Given the description of an element on the screen output the (x, y) to click on. 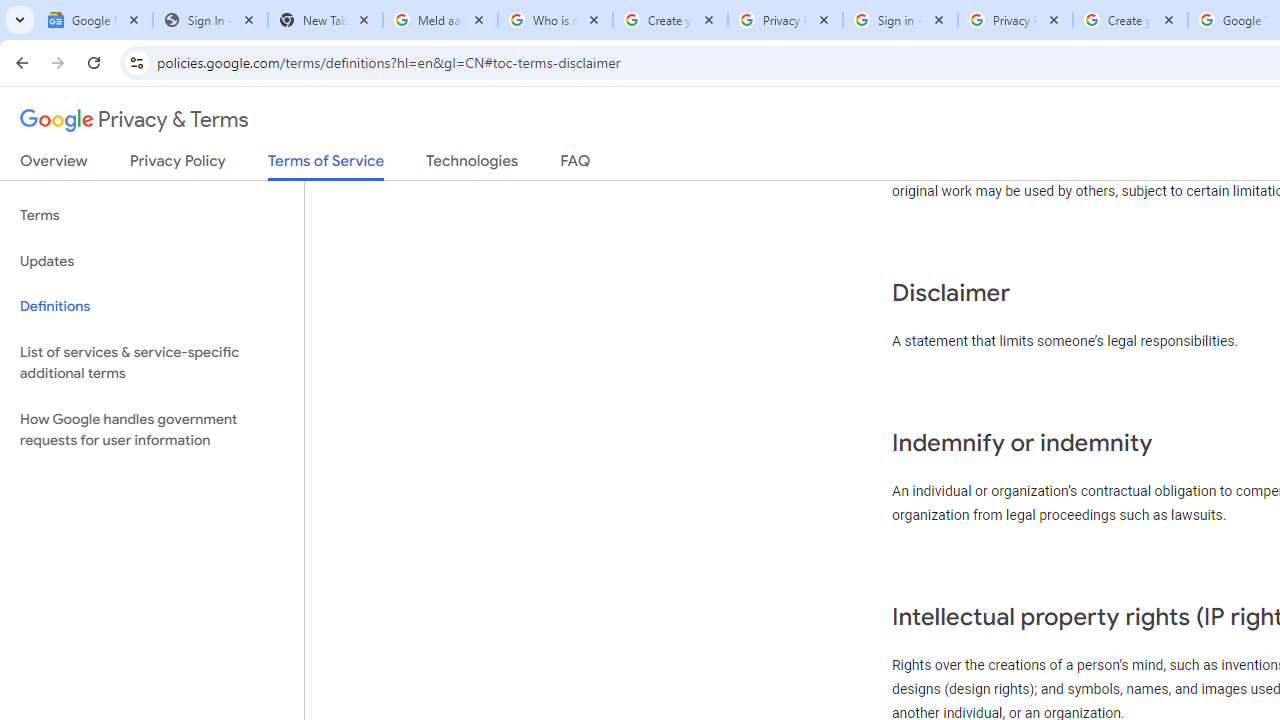
Sign In - USA TODAY (209, 20)
Overview (54, 165)
Terms (152, 215)
Sign in - Google Accounts (900, 20)
Technologies (472, 165)
Privacy & Terms (134, 120)
